Given the description of an element on the screen output the (x, y) to click on. 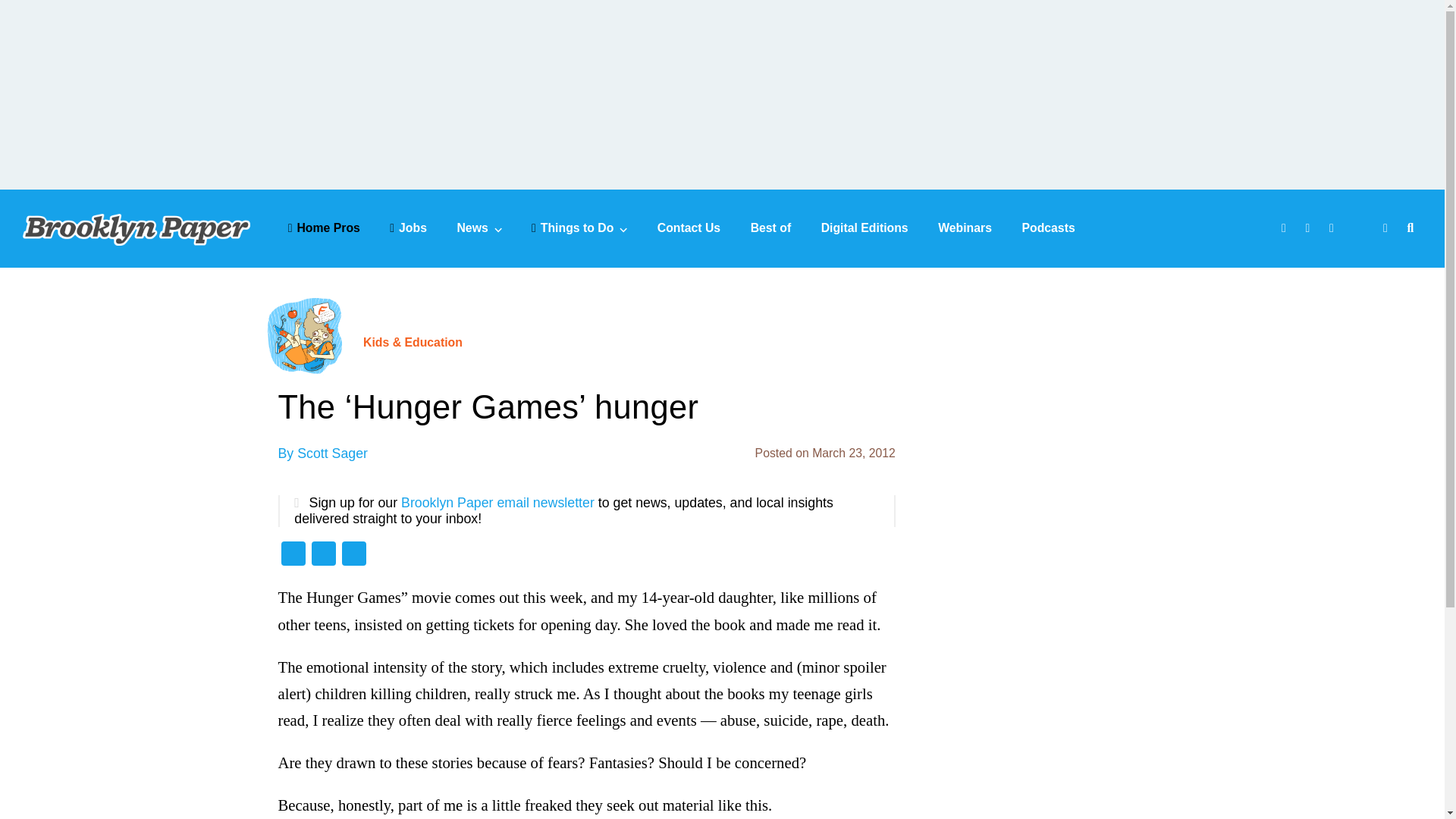
Things to Do (579, 227)
Jobs (408, 227)
Digital Editions (864, 227)
Facebook (292, 555)
Contact Us (689, 227)
Best of (771, 227)
Webinars (964, 227)
Podcasts (1048, 227)
News (478, 227)
Home Pros (323, 227)
Twitter (322, 555)
